Given the description of an element on the screen output the (x, y) to click on. 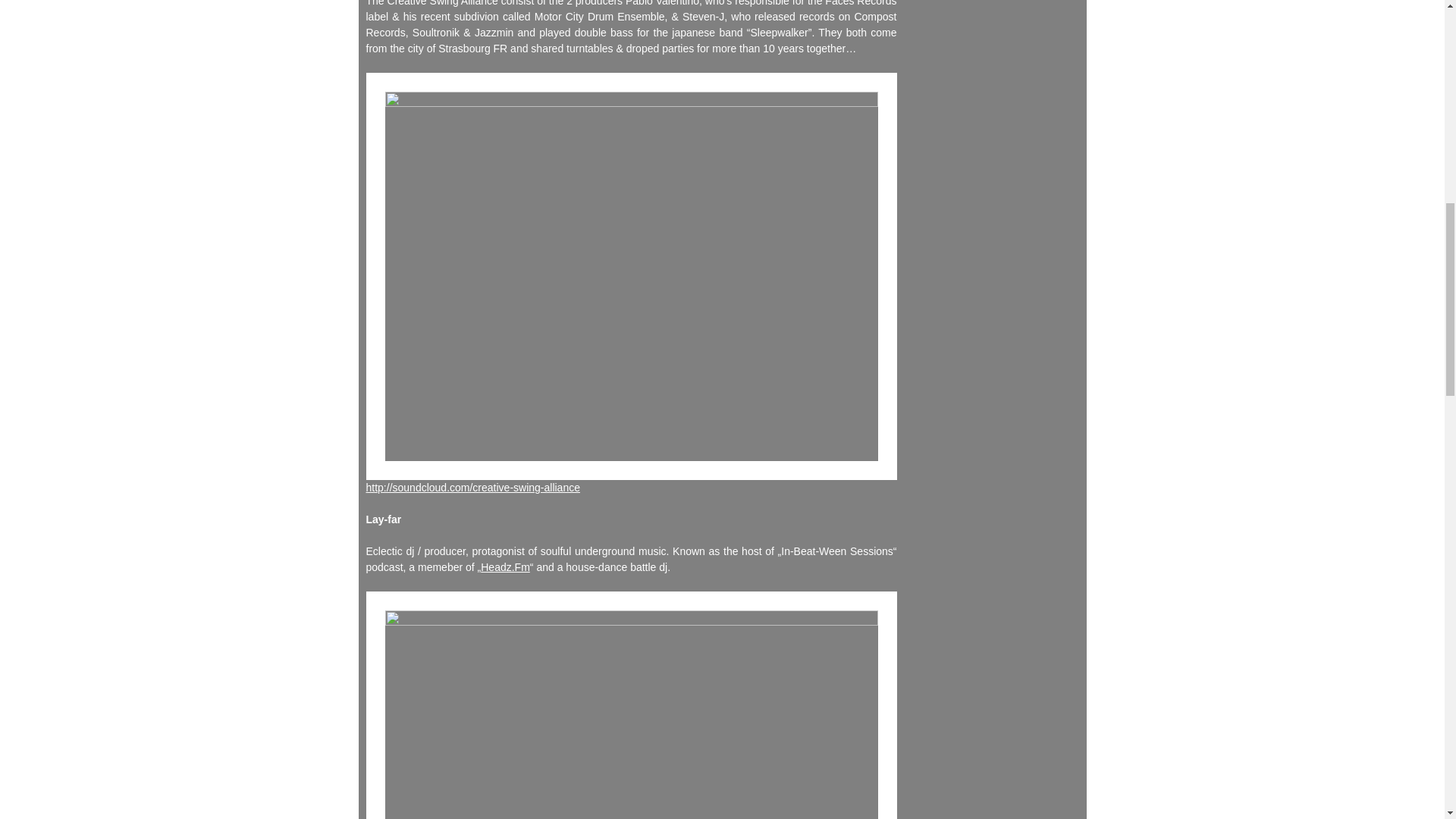
LAY-FAR pic 1 (630, 705)
Headz.Fm (504, 567)
Creative Swing Alliance (472, 487)
